Given the description of an element on the screen output the (x, y) to click on. 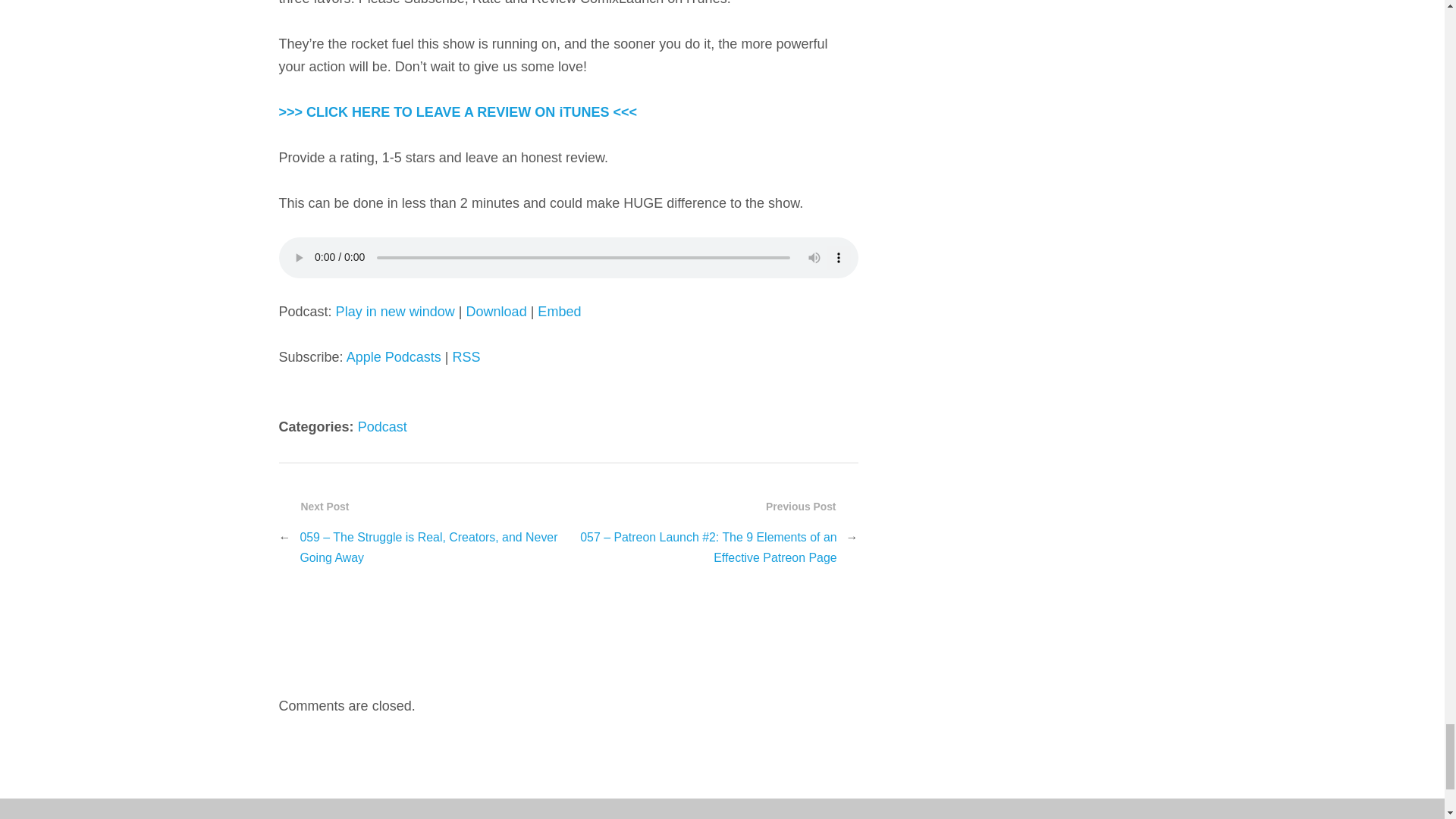
Download (496, 311)
Podcast (382, 426)
Embed (558, 311)
Play in new window (395, 311)
Download (496, 311)
Embed (558, 311)
Play in new window (395, 311)
Subscribe on Apple Podcasts (393, 356)
Apple Podcasts (393, 356)
Subscribe via RSS (466, 356)
RSS (466, 356)
